Given the description of an element on the screen output the (x, y) to click on. 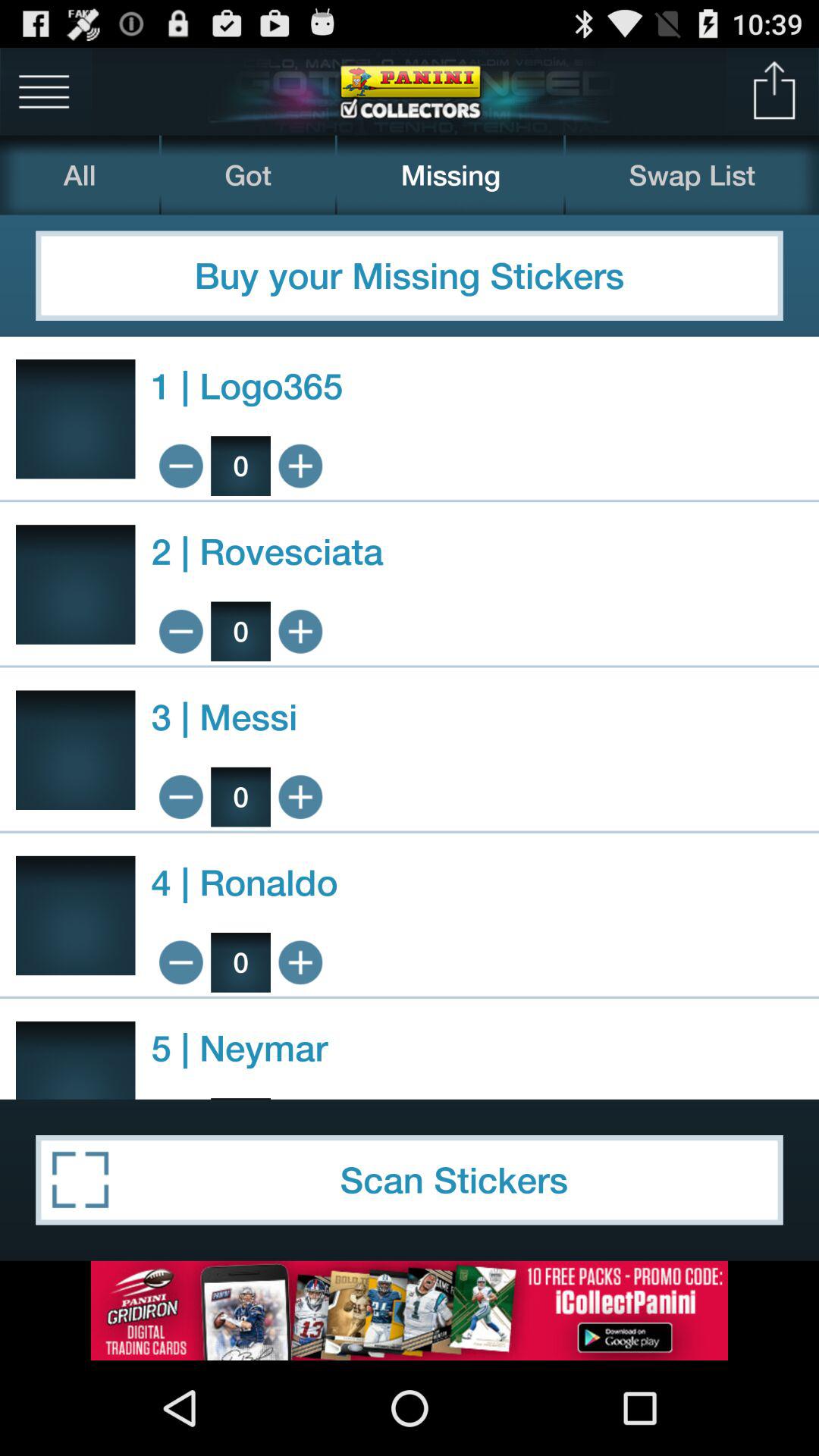
increment messi sticker (300, 796)
